Given the description of an element on the screen output the (x, y) to click on. 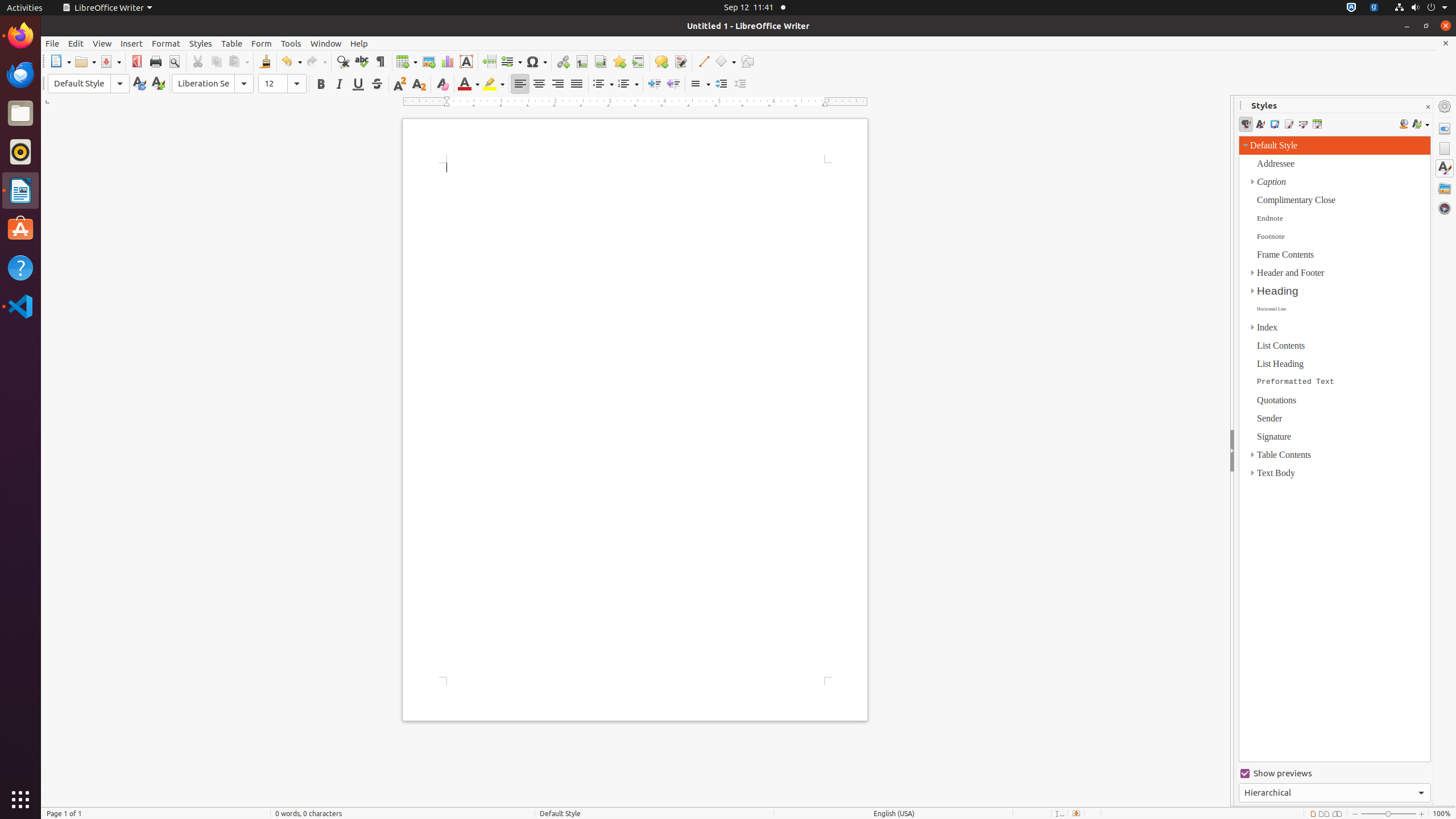
List Styles Element type: push-button (1302, 123)
Comment Element type: push-button (660, 61)
Strikethrough Element type: toggle-button (376, 83)
Format Element type: menu (165, 43)
Character Styles Element type: push-button (1259, 123)
